Given the description of an element on the screen output the (x, y) to click on. 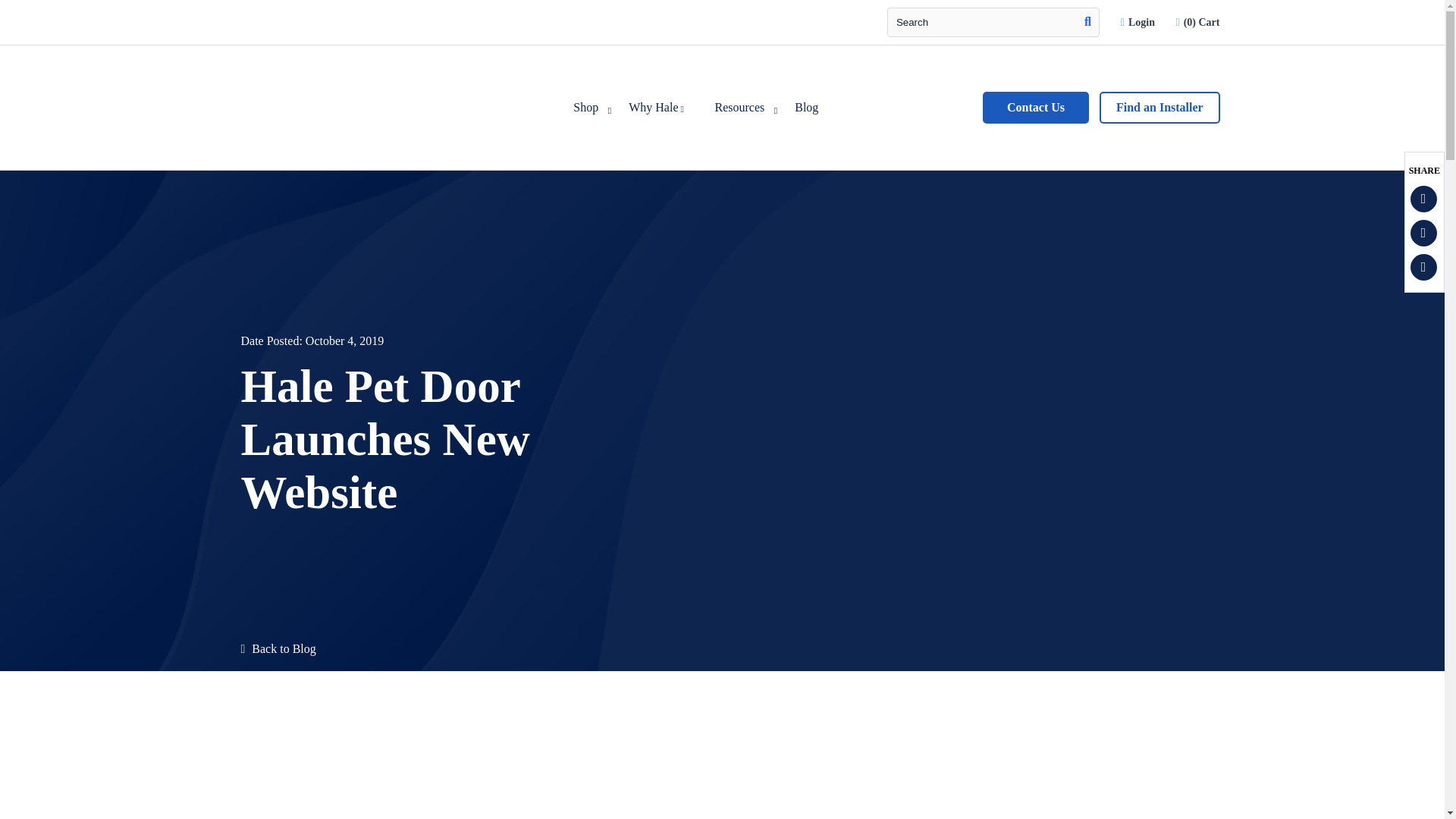
Why Hale   (655, 107)
Find an Installer (1159, 107)
primary logo (337, 162)
Resources (738, 107)
header cta (1198, 21)
header cta (1139, 21)
Shop (584, 107)
Contact Us (1035, 107)
Blog (805, 107)
Login (1139, 21)
site search button (1088, 21)
